Given the description of an element on the screen output the (x, y) to click on. 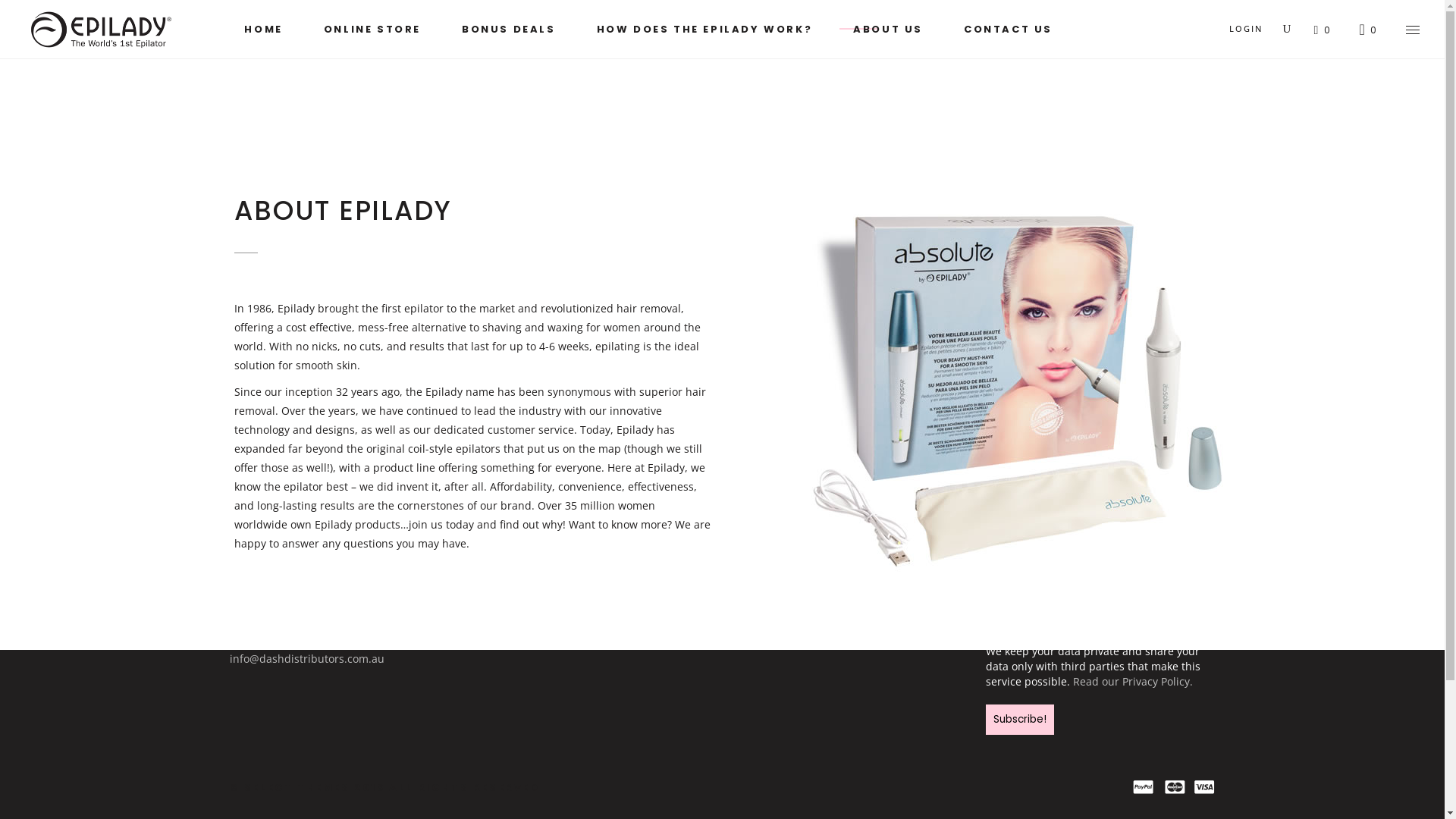
Contact Us Element type: text (761, 604)
Our Story Element type: text (758, 584)
Subscribe! Element type: text (1019, 719)
Send Element type: text (689, 465)
+0414 651211 Element type: text (263, 586)
ABOUT US Element type: text (887, 29)
0 Element type: text (1367, 29)
Epilady Australia Delivery Element type: text (546, 584)
info@dashdistributors.com.au Element type: text (306, 658)
BONUS DEALS Element type: text (508, 29)
CONTACT US Element type: text (1008, 29)
My account Element type: text (510, 604)
0 Element type: text (1321, 29)
Read our Privacy Policy. Element type: text (1132, 681)
HOME Element type: text (262, 29)
Email Element type: hover (1100, 612)
ONLINE STORE Element type: text (372, 29)
Privacy Policy Element type: text (768, 625)
HOW DOES THE EPILADY WORK? Element type: text (704, 29)
LOGIN Element type: text (1246, 28)
